Given the description of an element on the screen output the (x, y) to click on. 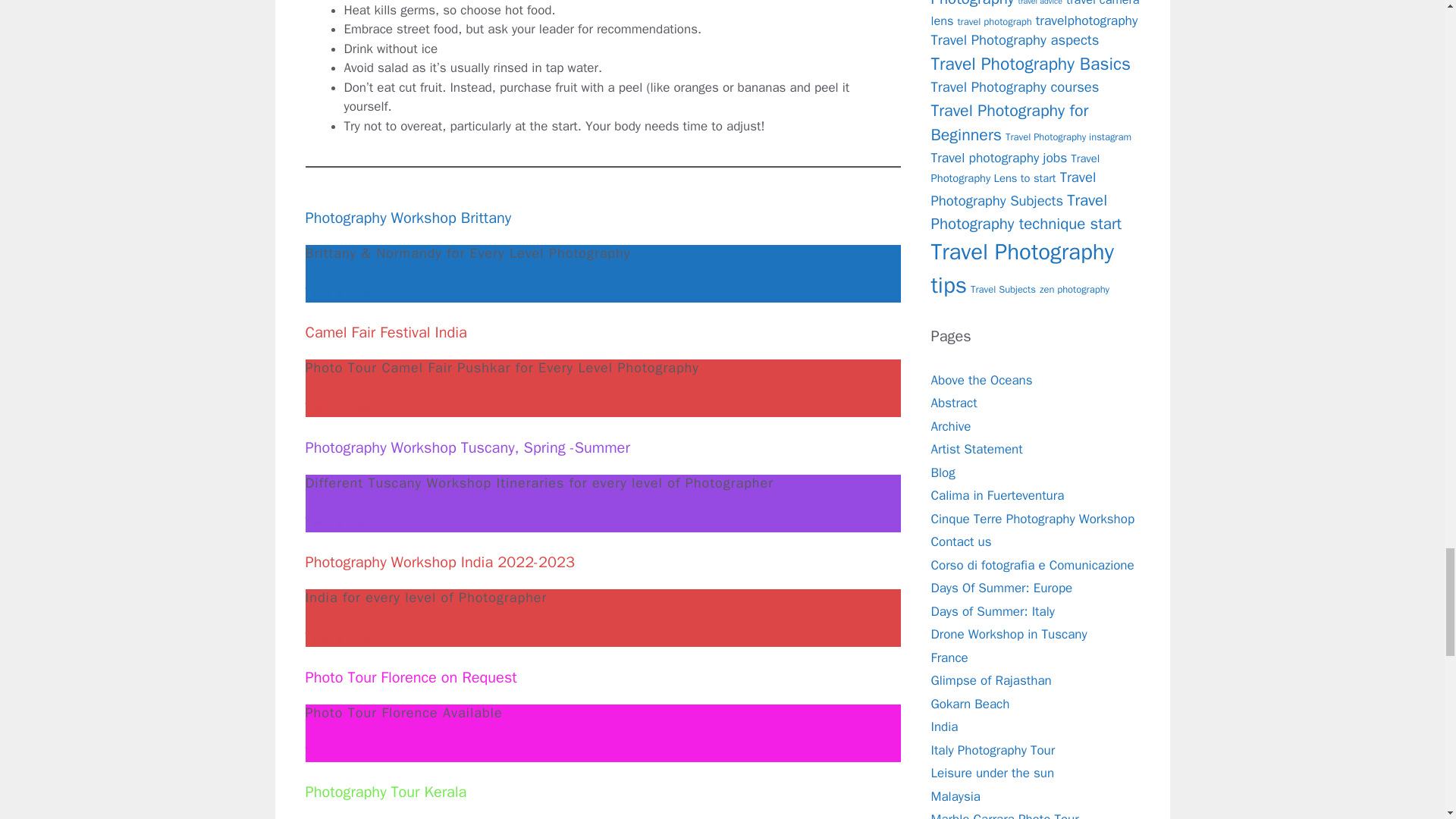
Take a Look (338, 637)
Take a Look (338, 521)
Take a Look (338, 292)
Take a Look (338, 407)
Take a Look (338, 751)
